Given the description of an element on the screen output the (x, y) to click on. 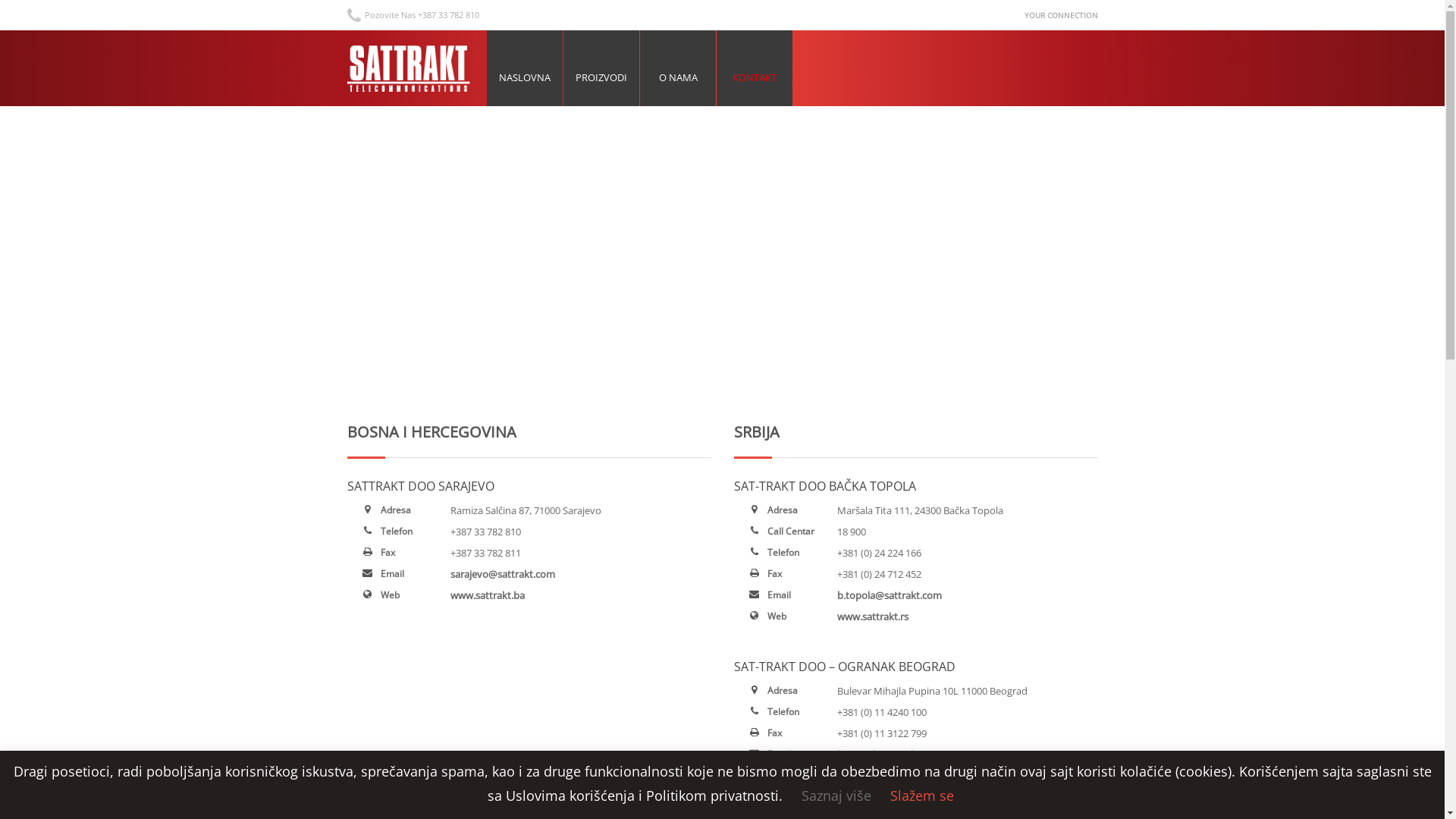
sarajevo@sattrakt.com Element type: text (502, 573)
b.topola@sattrakt.com Element type: text (889, 595)
NASLOVNA Element type: text (524, 68)
www.sattrakt.ba Element type: text (487, 595)
O NAMA Element type: text (677, 68)
beograd@sattrakt.com Element type: text (889, 754)
www.sattrakt.rs Element type: text (872, 775)
PROIZVODI Element type: text (601, 68)
SATTRAKT Element type: hover (411, 68)
KONTAKT Element type: text (754, 68)
www.sattrakt.rs Element type: text (872, 616)
